Given the description of an element on the screen output the (x, y) to click on. 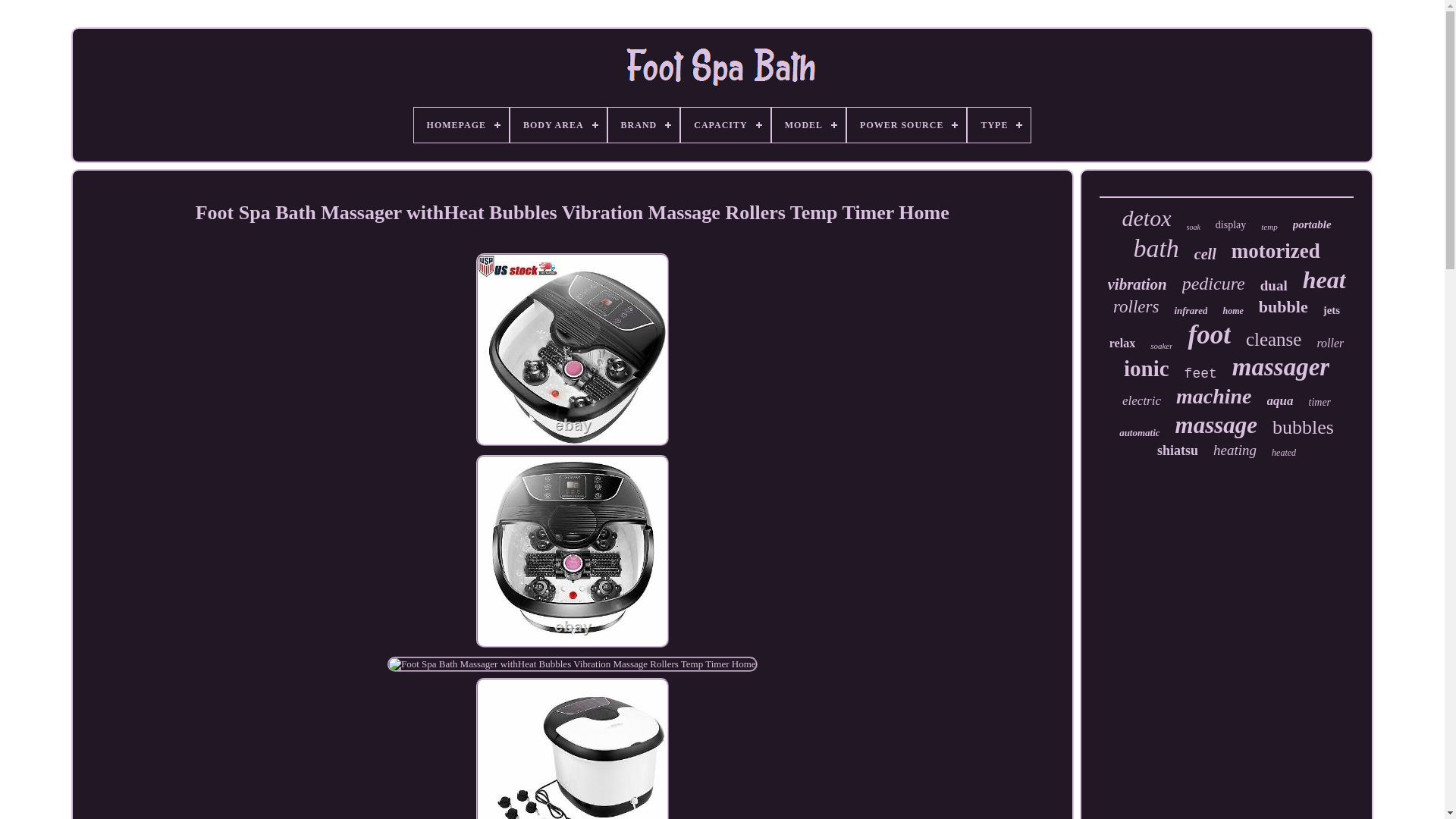
BRAND (643, 124)
BODY AREA (559, 124)
HOMEPAGE (460, 124)
